Given the description of an element on the screen output the (x, y) to click on. 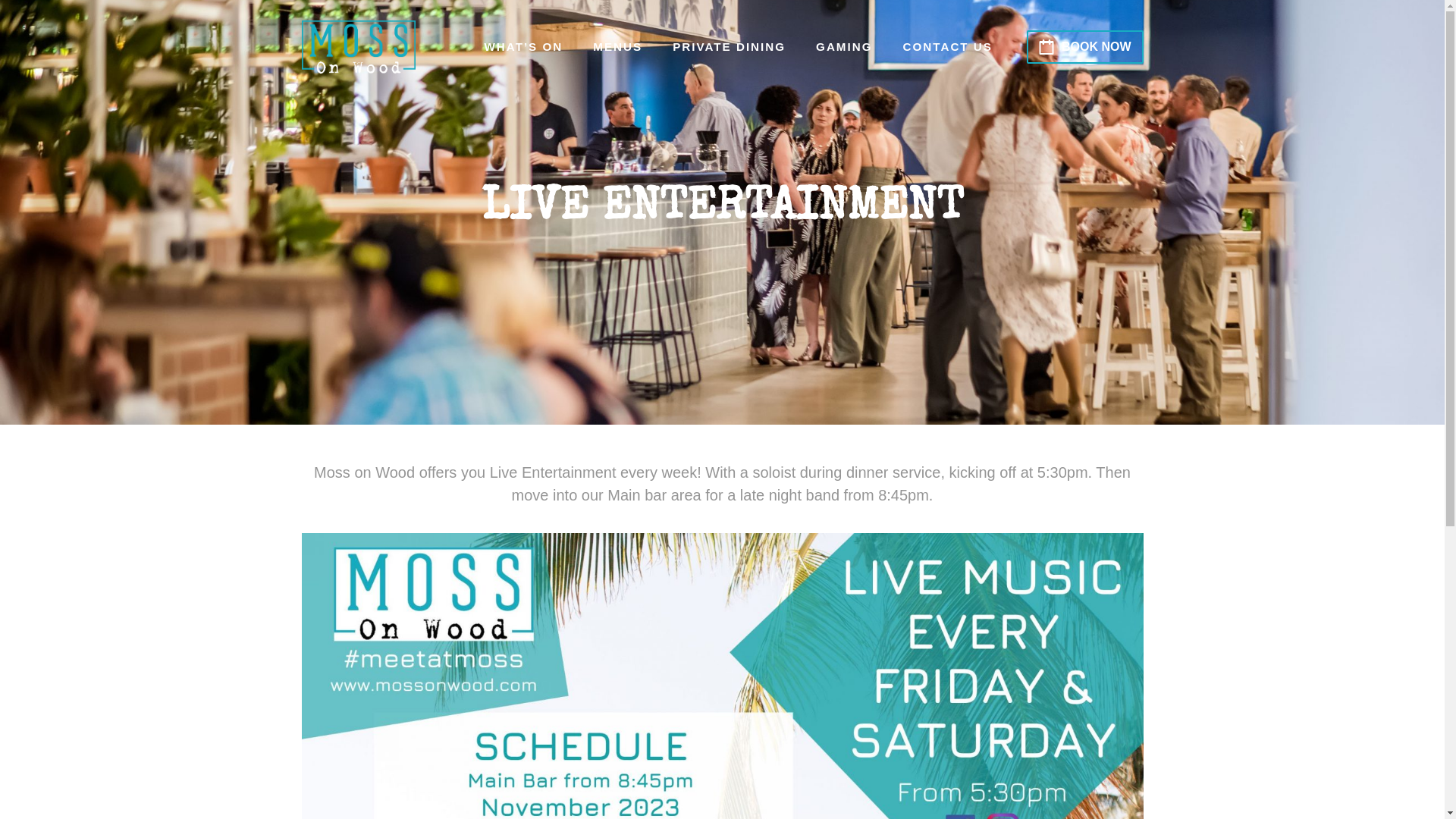
CONTACT US Element type: text (947, 47)
GAMING Element type: text (843, 47)
BOOK NOW Element type: text (1084, 46)
PRIVATE DINING Element type: text (728, 47)
MENUS Element type: text (617, 47)
